Given the description of an element on the screen output the (x, y) to click on. 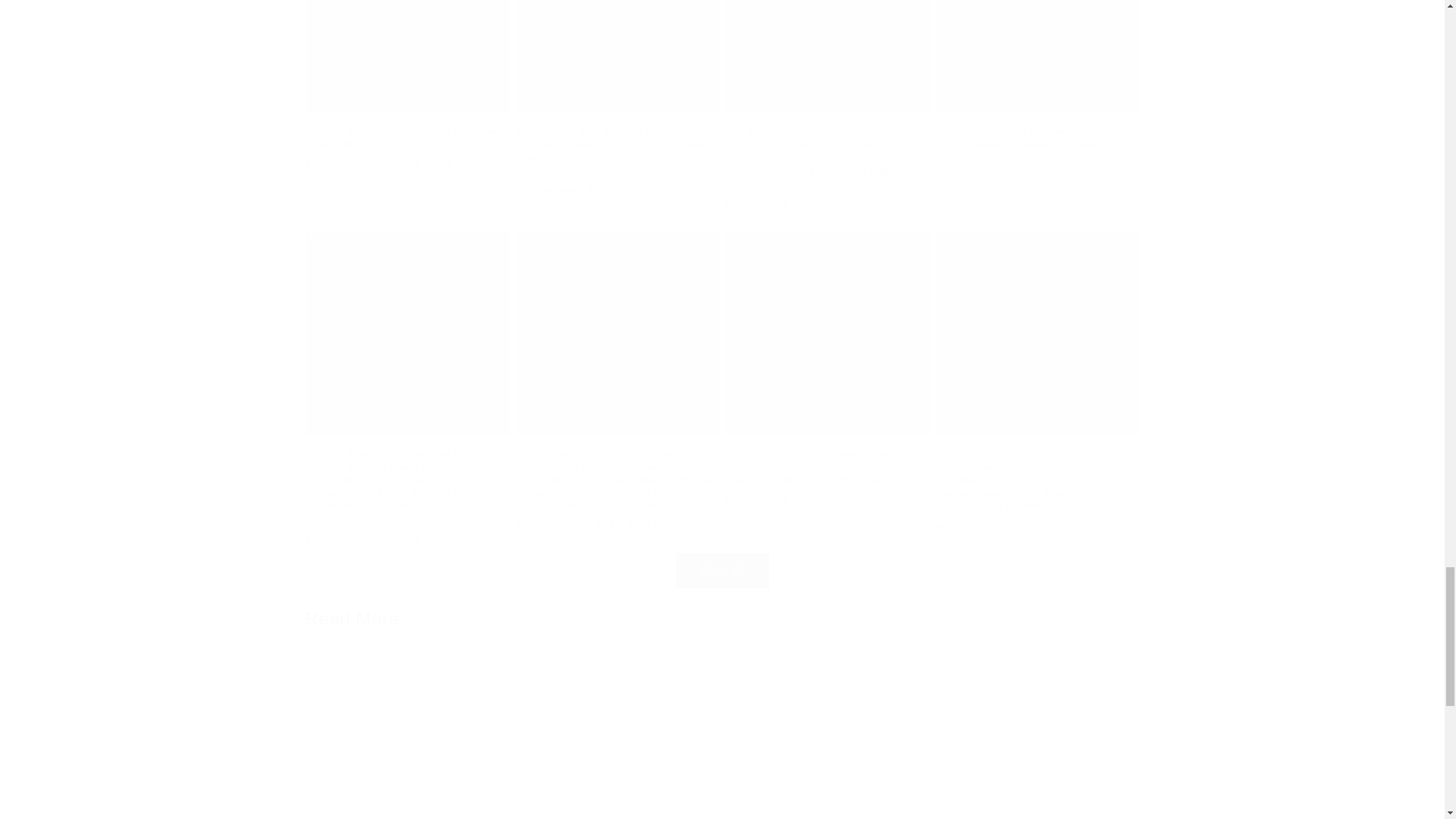
Read More (351, 617)
